Given the description of an element on the screen output the (x, y) to click on. 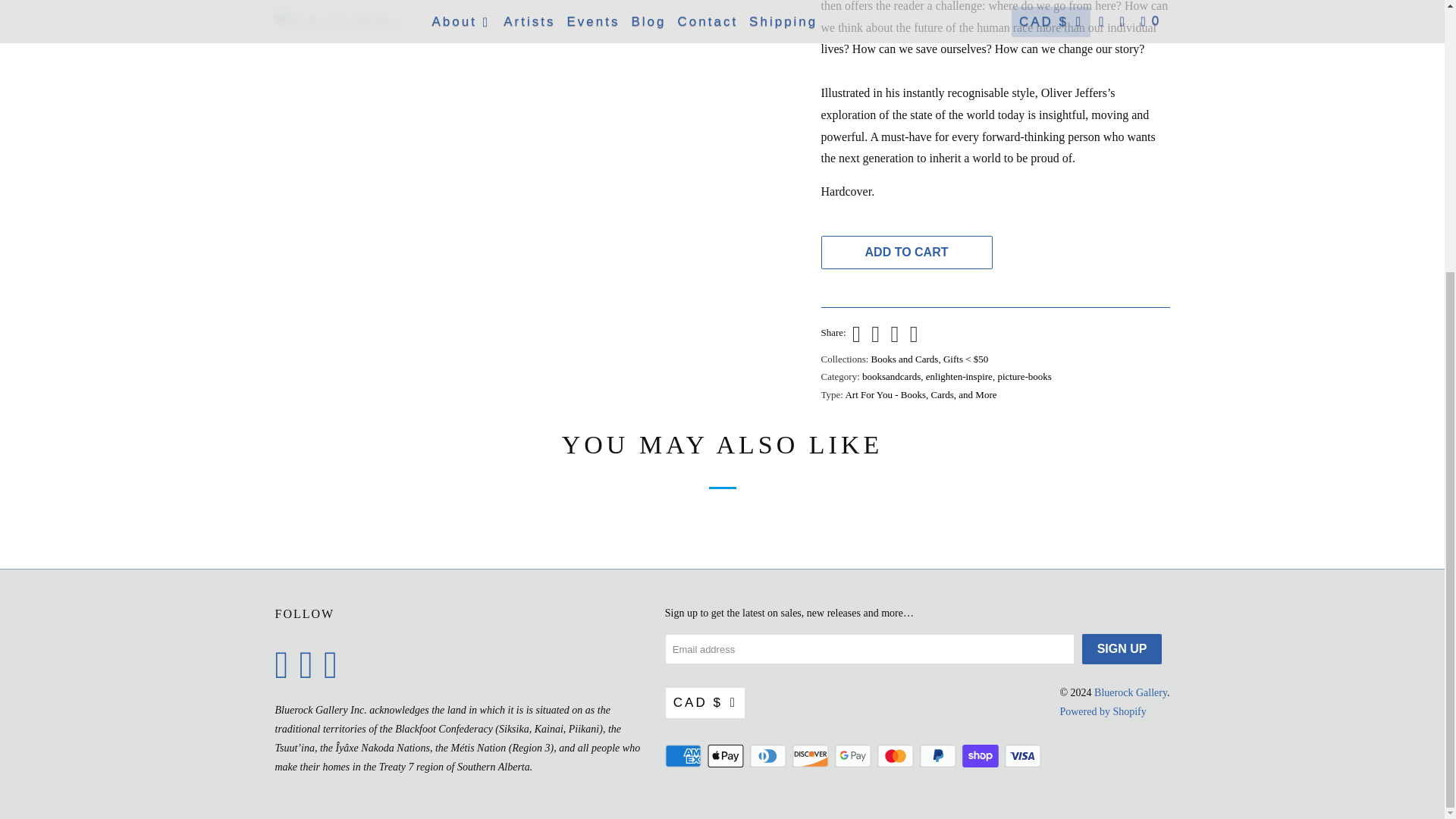
Visa (1023, 755)
American Express (684, 755)
Google Pay (854, 755)
Products tagged booksandcards (890, 376)
Products tagged enlighten-inspire (959, 376)
Apple Pay (726, 755)
Shop Pay (981, 755)
Discover (811, 755)
Mastercard (897, 755)
Begin Again (540, 38)
Books and Cards (904, 358)
Diners Club (769, 755)
Sign Up (1121, 648)
PayPal (939, 755)
